Given the description of an element on the screen output the (x, y) to click on. 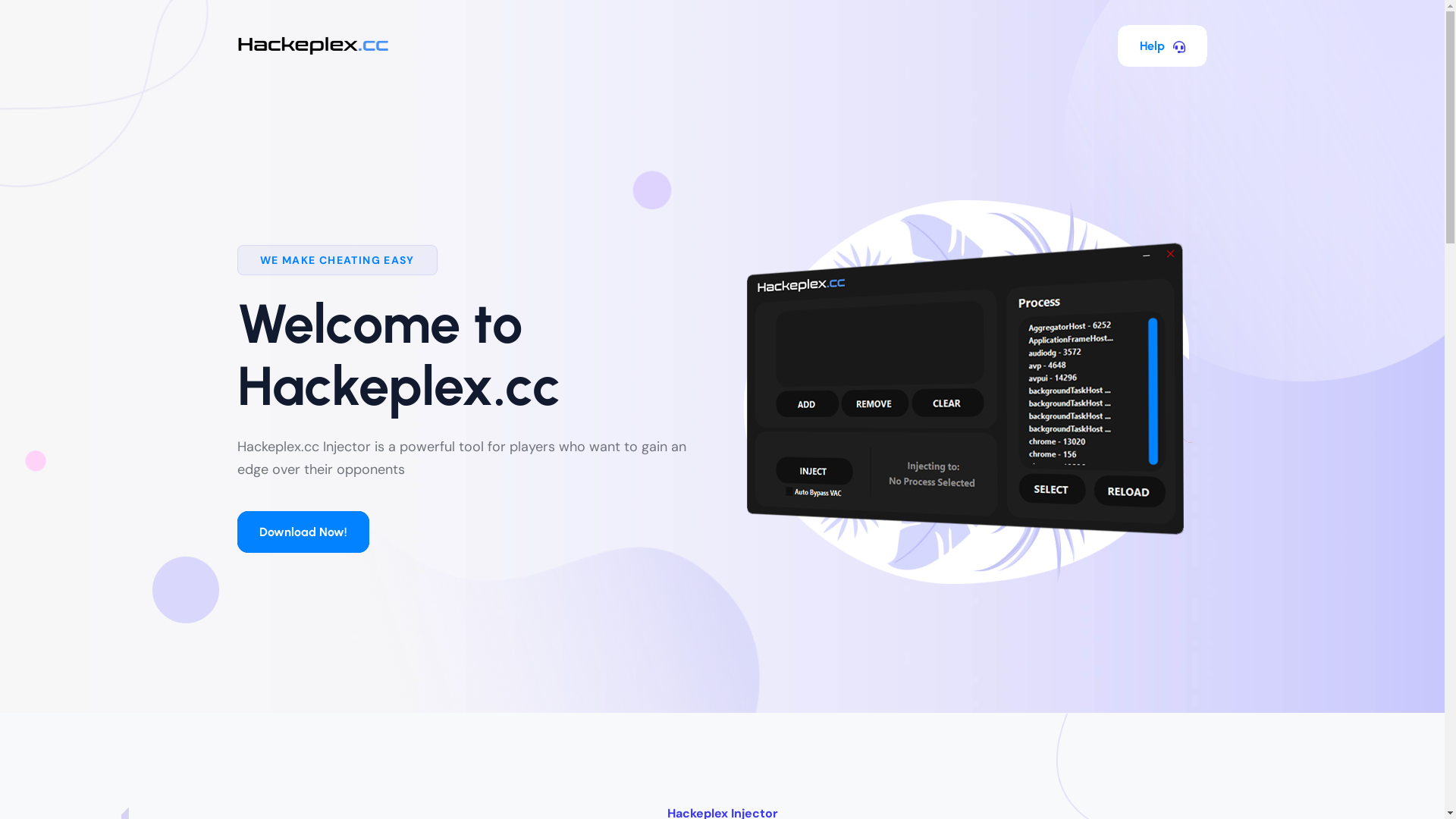
Hackeplex.cc Element type: text (397, 385)
Help Element type: text (1162, 45)
Download Now! Element type: text (302, 531)
Welcome to Element type: text (378, 323)
